Given the description of an element on the screen output the (x, y) to click on. 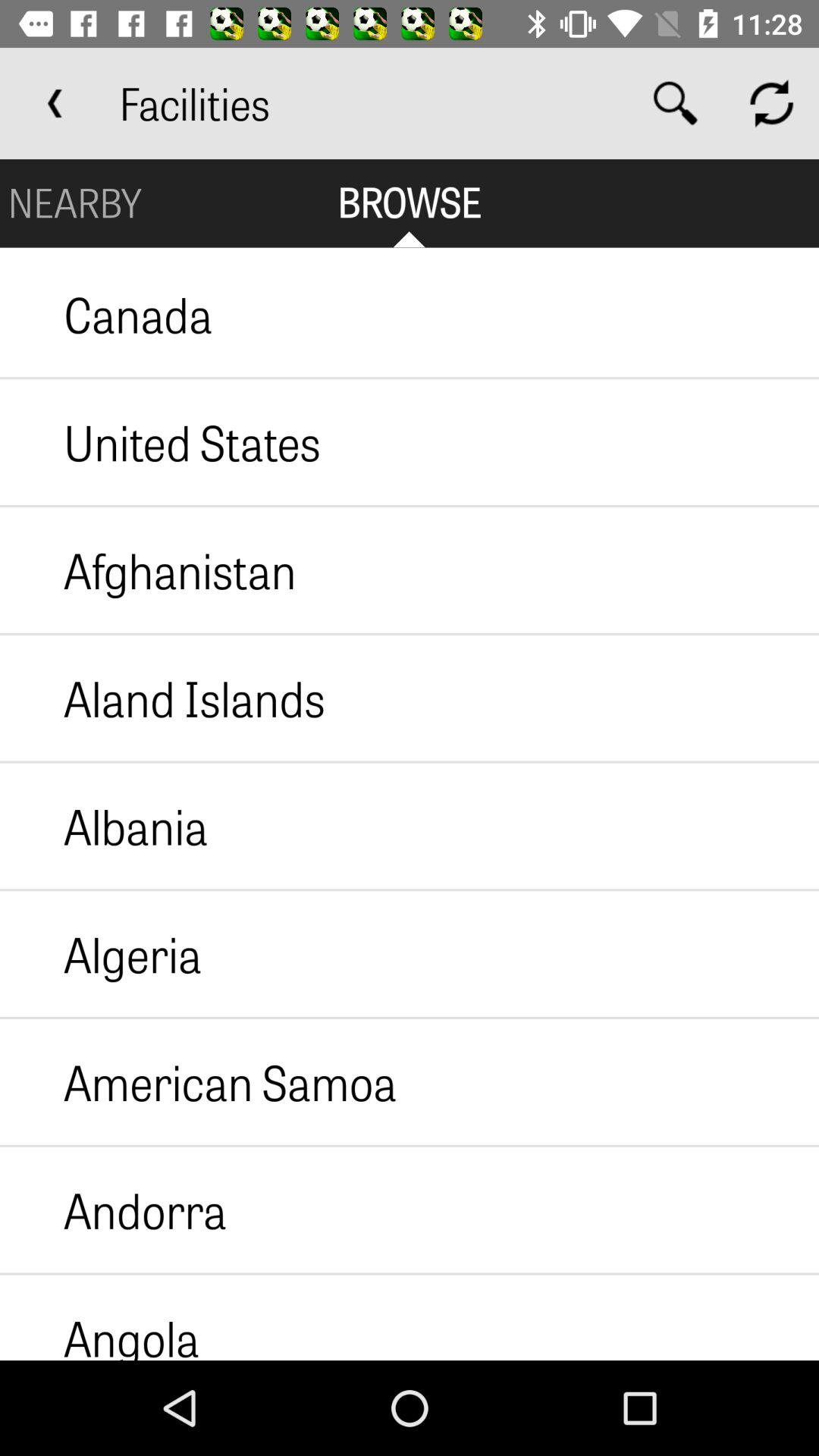
click icon below andorra (99, 1317)
